Given the description of an element on the screen output the (x, y) to click on. 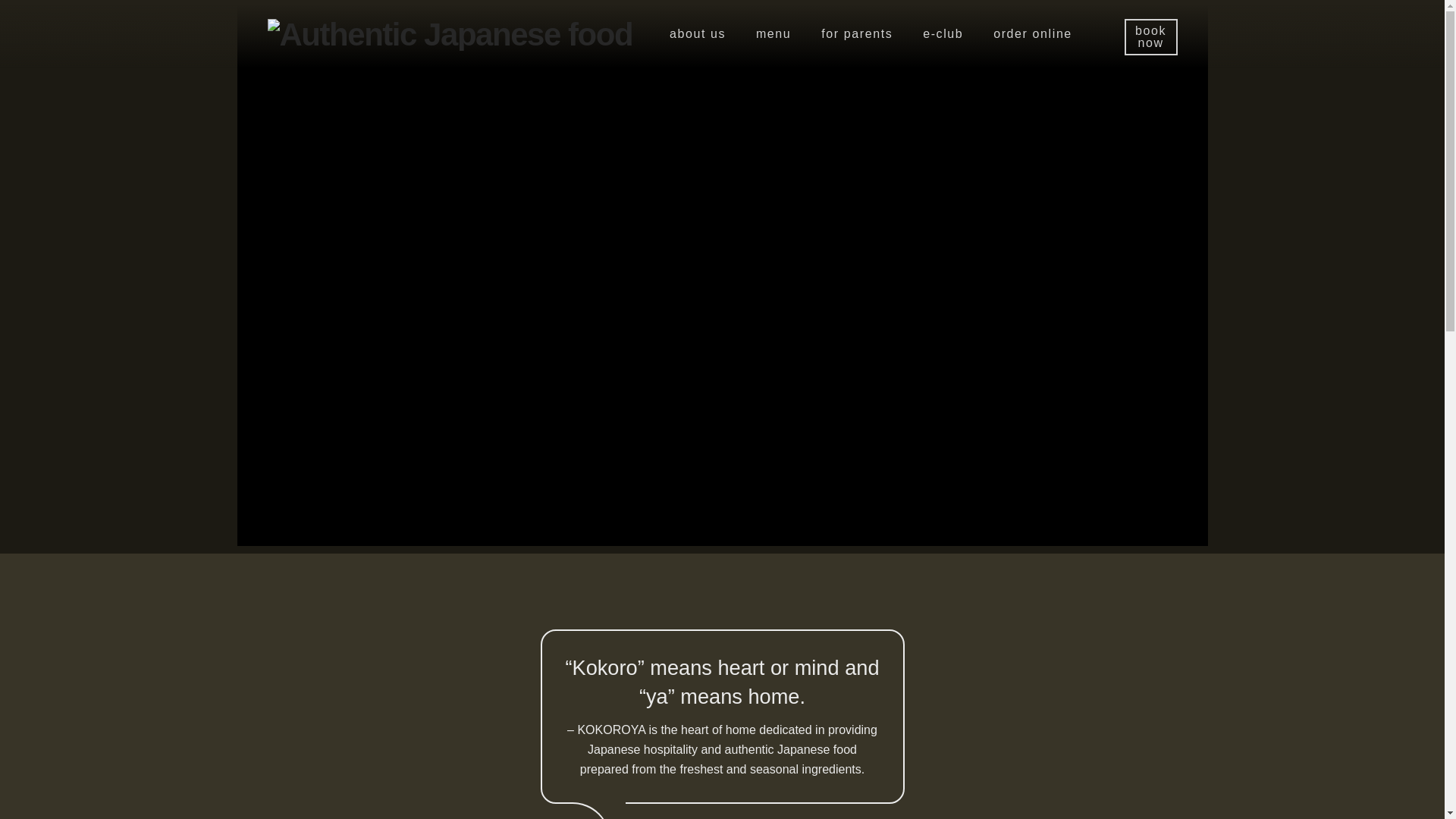
about us Element type: text (697, 34)
e-club Element type: text (942, 34)
order online Element type: text (1032, 34)
Authentic Japanese food Element type: hover (449, 33)
menu Element type: text (773, 34)
for parents Element type: text (856, 34)
